Given the description of an element on the screen output the (x, y) to click on. 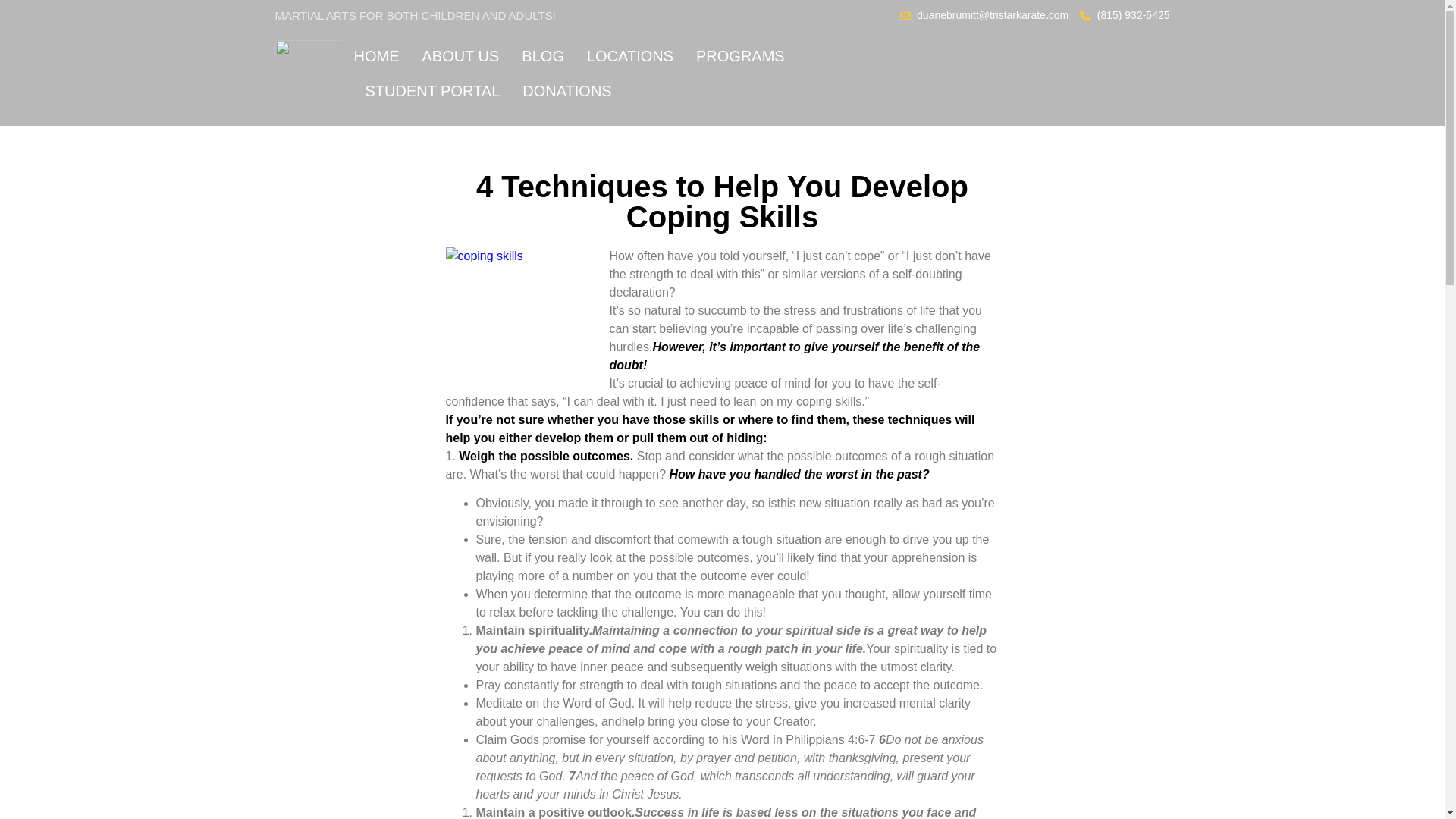
STUDENT PORTAL (432, 90)
BLOG (542, 55)
PROGRAMS (739, 55)
LOCATIONS (629, 55)
ABOUT US (460, 55)
HOME (375, 55)
DONATIONS (566, 90)
